Given the description of an element on the screen output the (x, y) to click on. 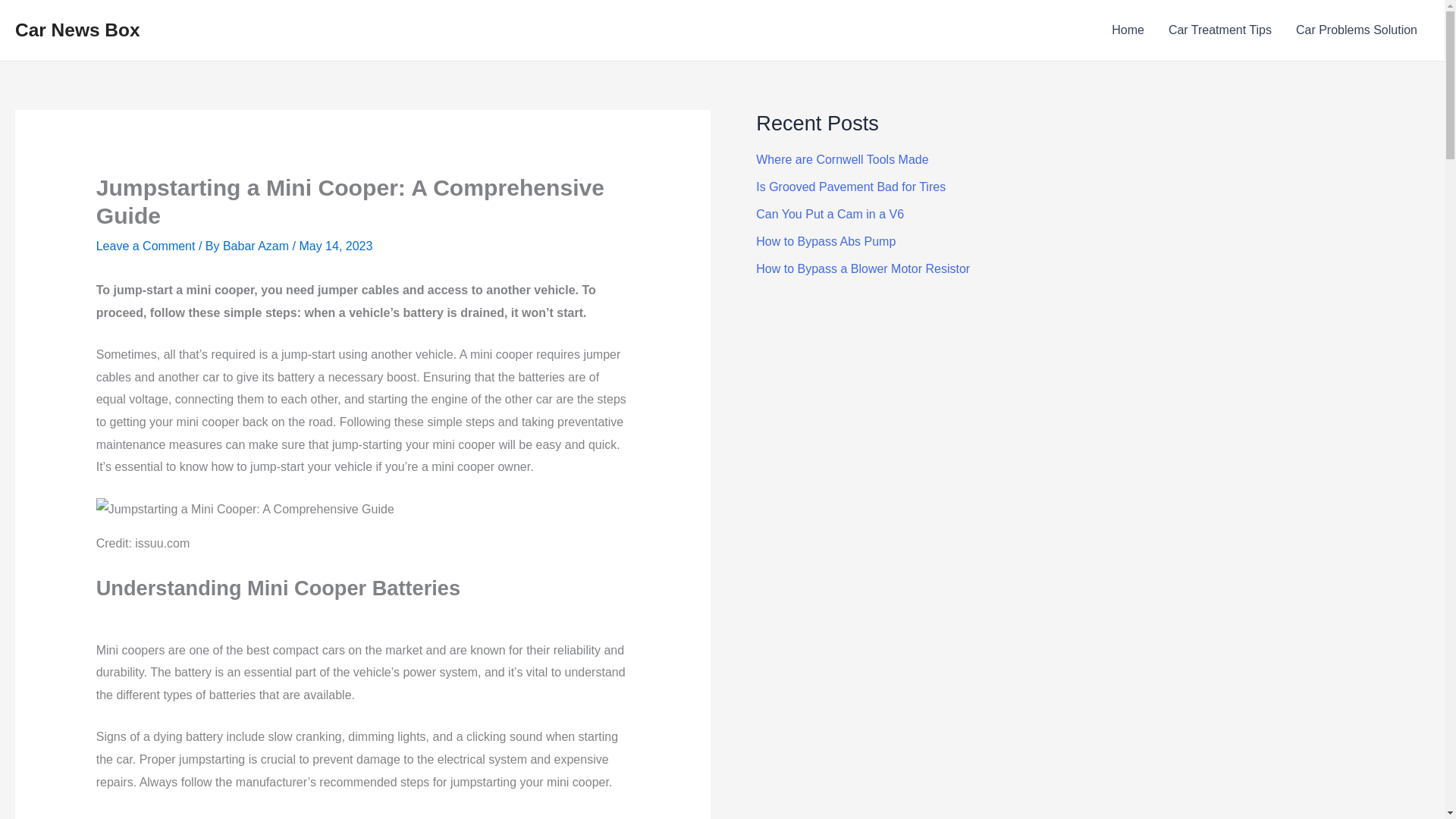
Where are Cornwell Tools Made (841, 159)
How to Bypass a Blower Motor Resistor (862, 268)
Leave a Comment (145, 245)
Home (1127, 30)
Can You Put a Cam in a V6 (829, 214)
Car Problems Solution (1356, 30)
Is Grooved Pavement Bad for Tires (849, 186)
View all posts by Babar Azam (257, 245)
Car Treatment Tips (1220, 30)
How to Bypass Abs Pump (825, 241)
